Given the description of an element on the screen output the (x, y) to click on. 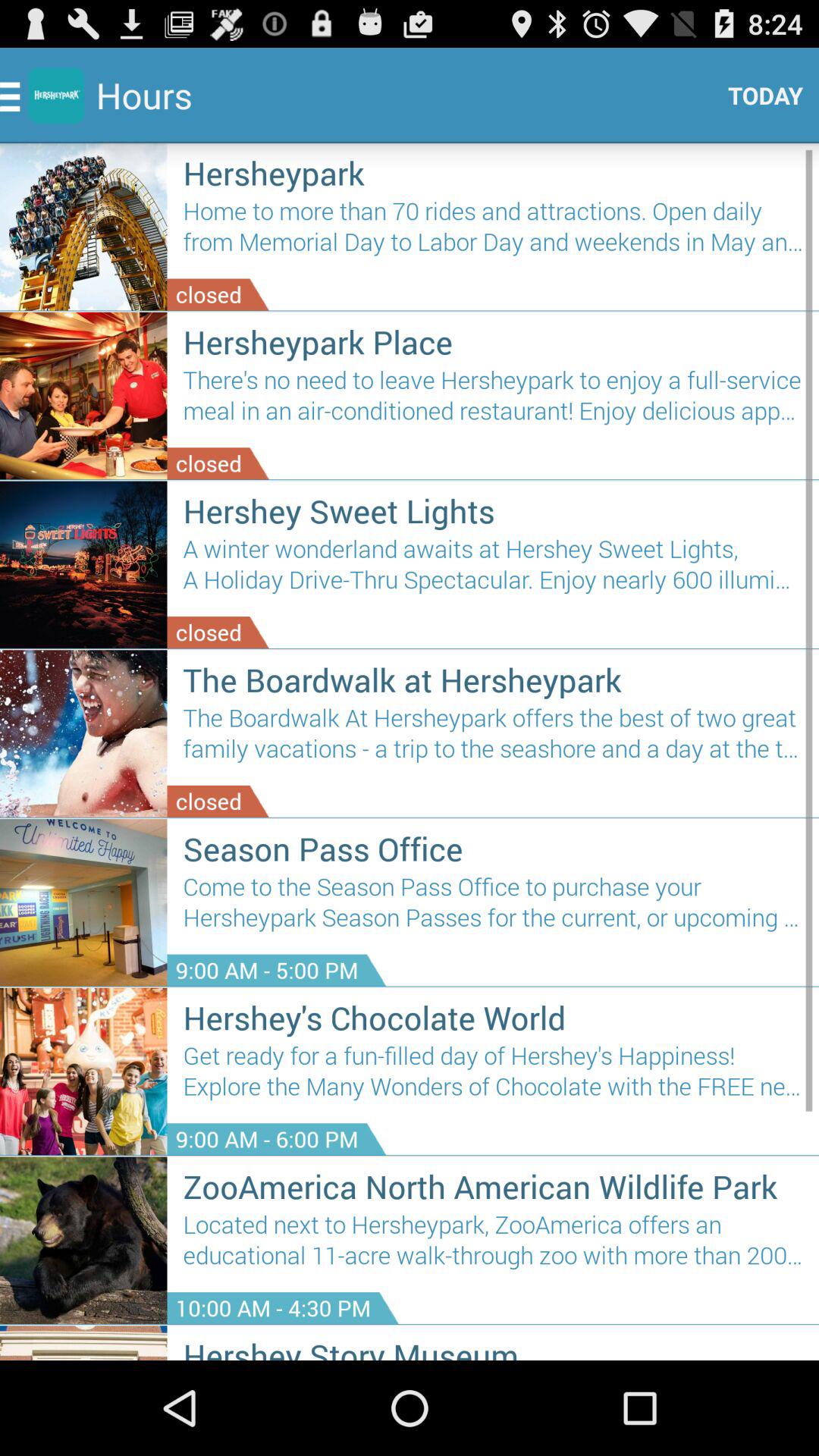
turn off icon below the hershey sweet lights (493, 570)
